Given the description of an element on the screen output the (x, y) to click on. 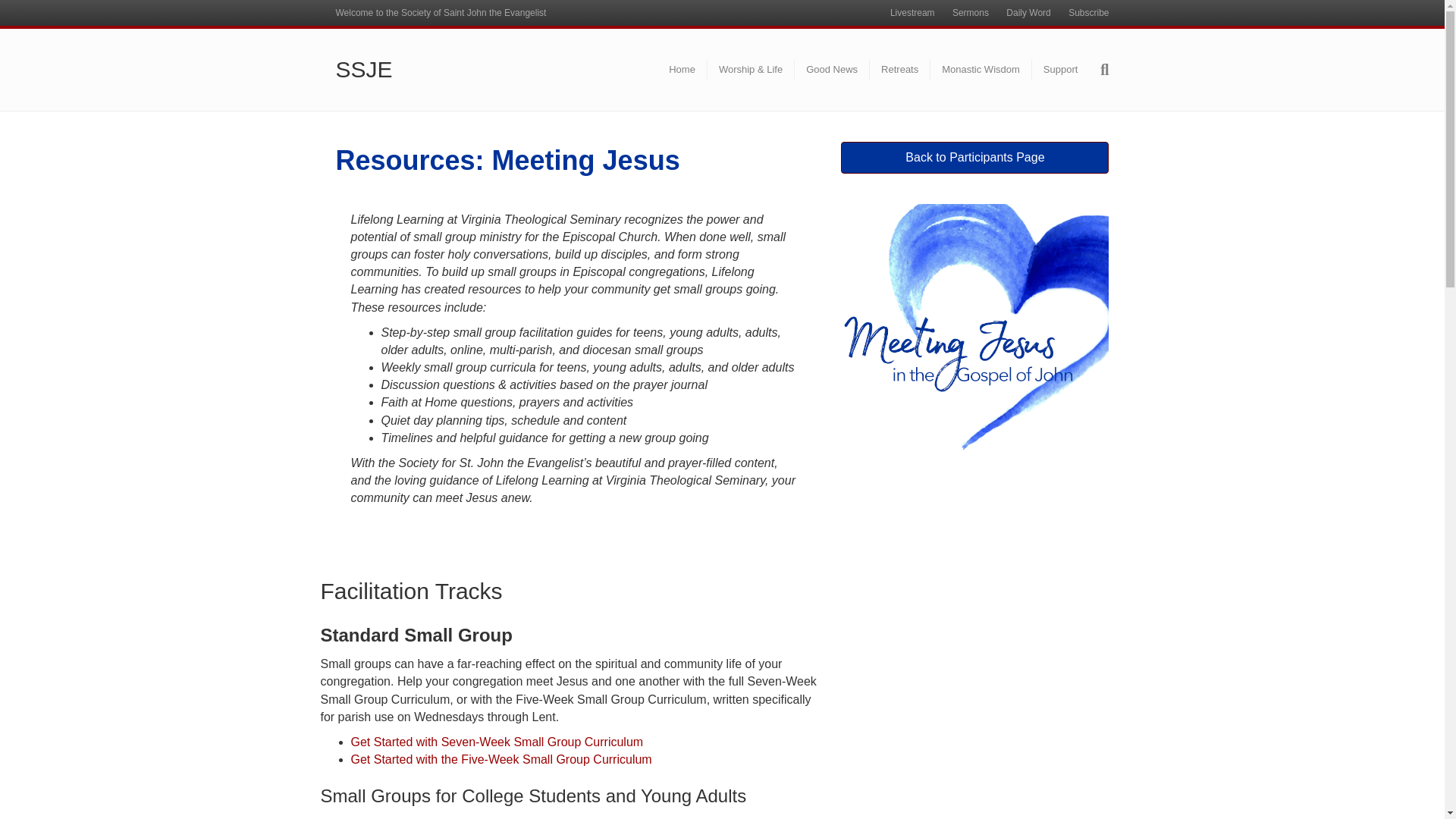
MJ Logo 600x600 (974, 337)
Good News (831, 69)
Retreats (899, 69)
SSJE (457, 69)
Home (682, 69)
Support (1060, 69)
Subscribe (1088, 13)
Sermons (969, 13)
Monastic Wisdom (981, 69)
Livestream (912, 13)
